Given the description of an element on the screen output the (x, y) to click on. 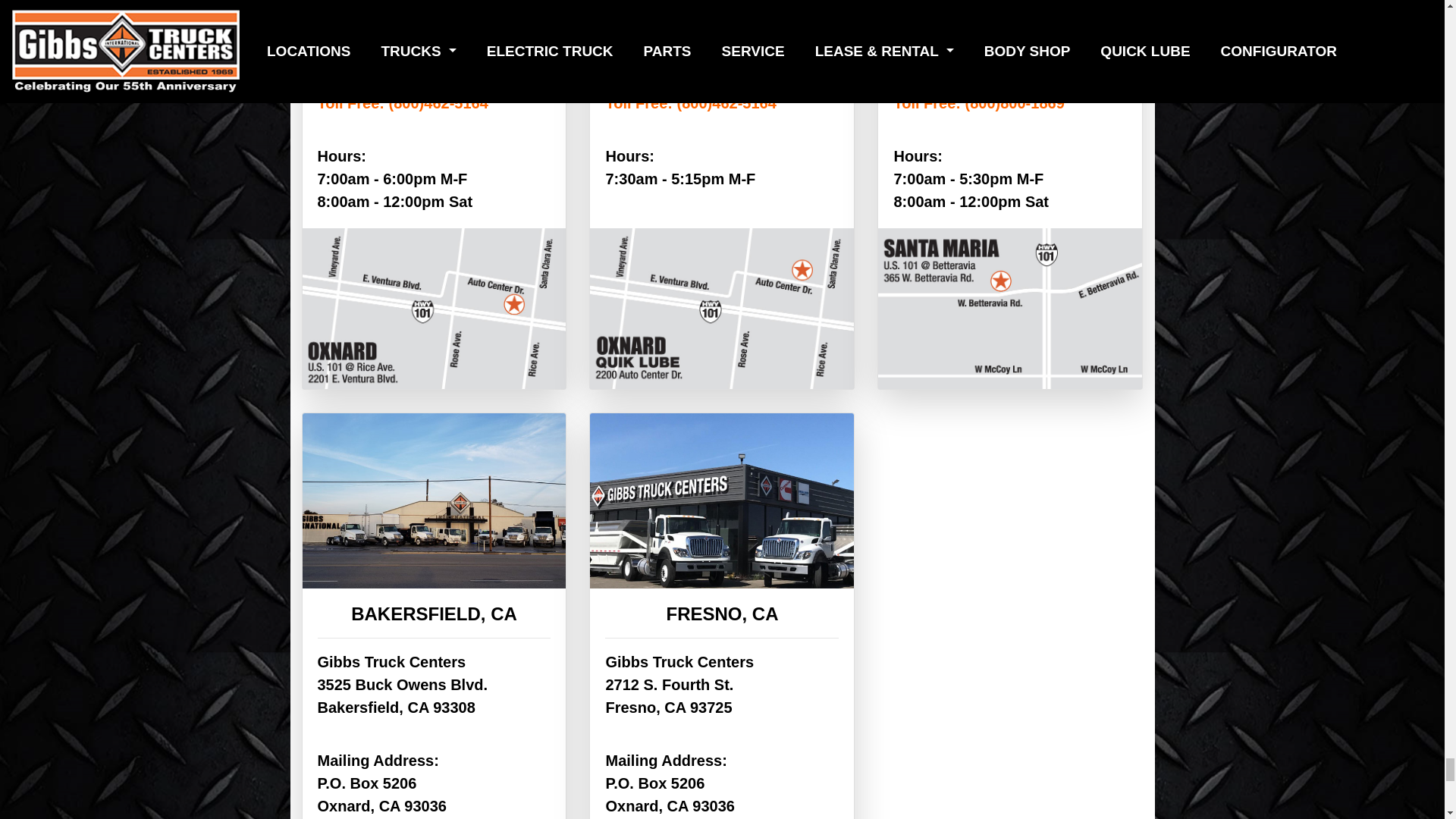
Hwy 101 at Betteravia Rd. (985, 6)
